Given the description of an element on the screen output the (x, y) to click on. 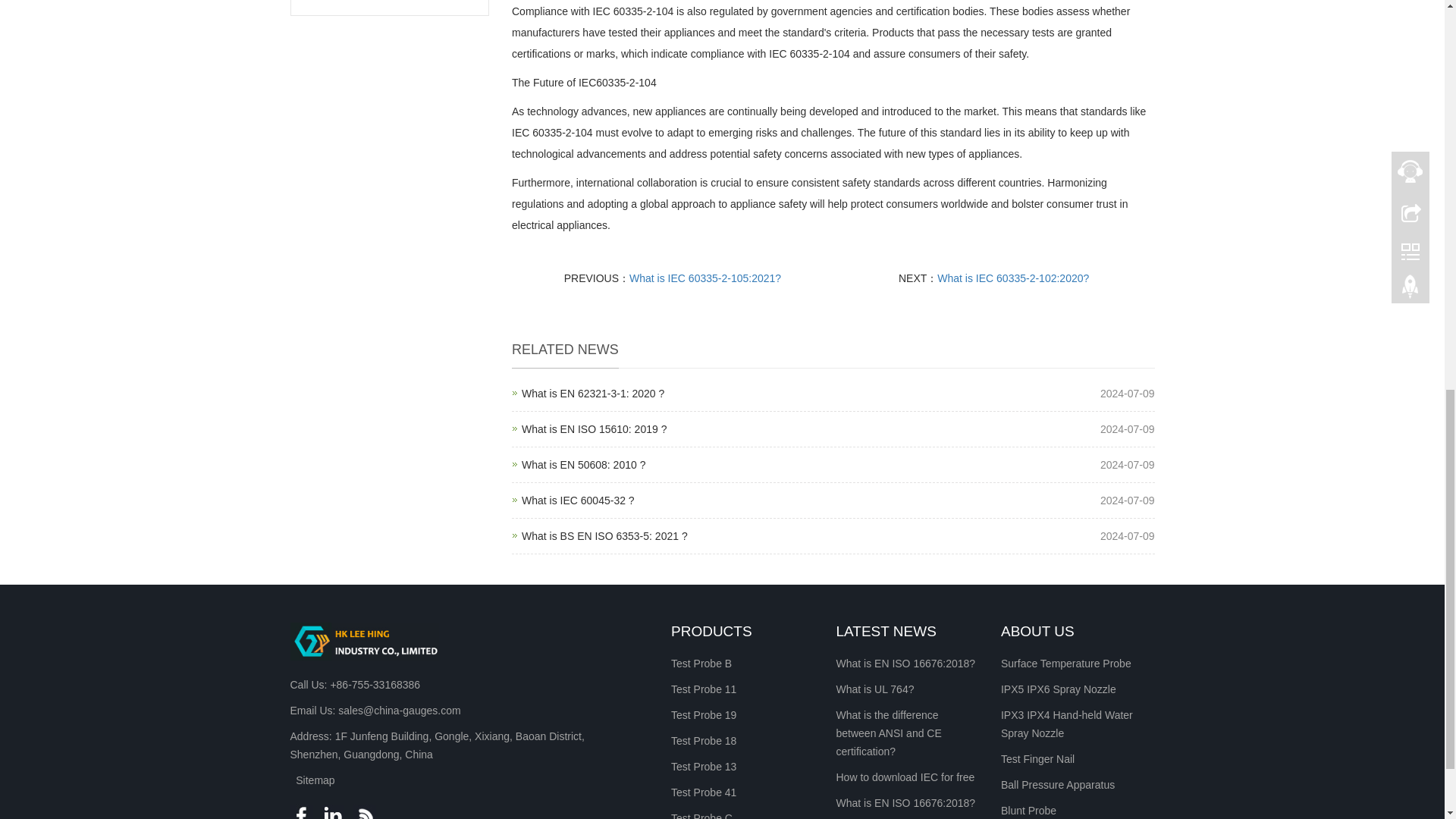
What is EN 62321-3-1: 2020 ? (592, 393)
What is IEC 60335-2-102:2020? (577, 500)
What is IEC 60335-2-105:2021? (593, 428)
